Given the description of an element on the screen output the (x, y) to click on. 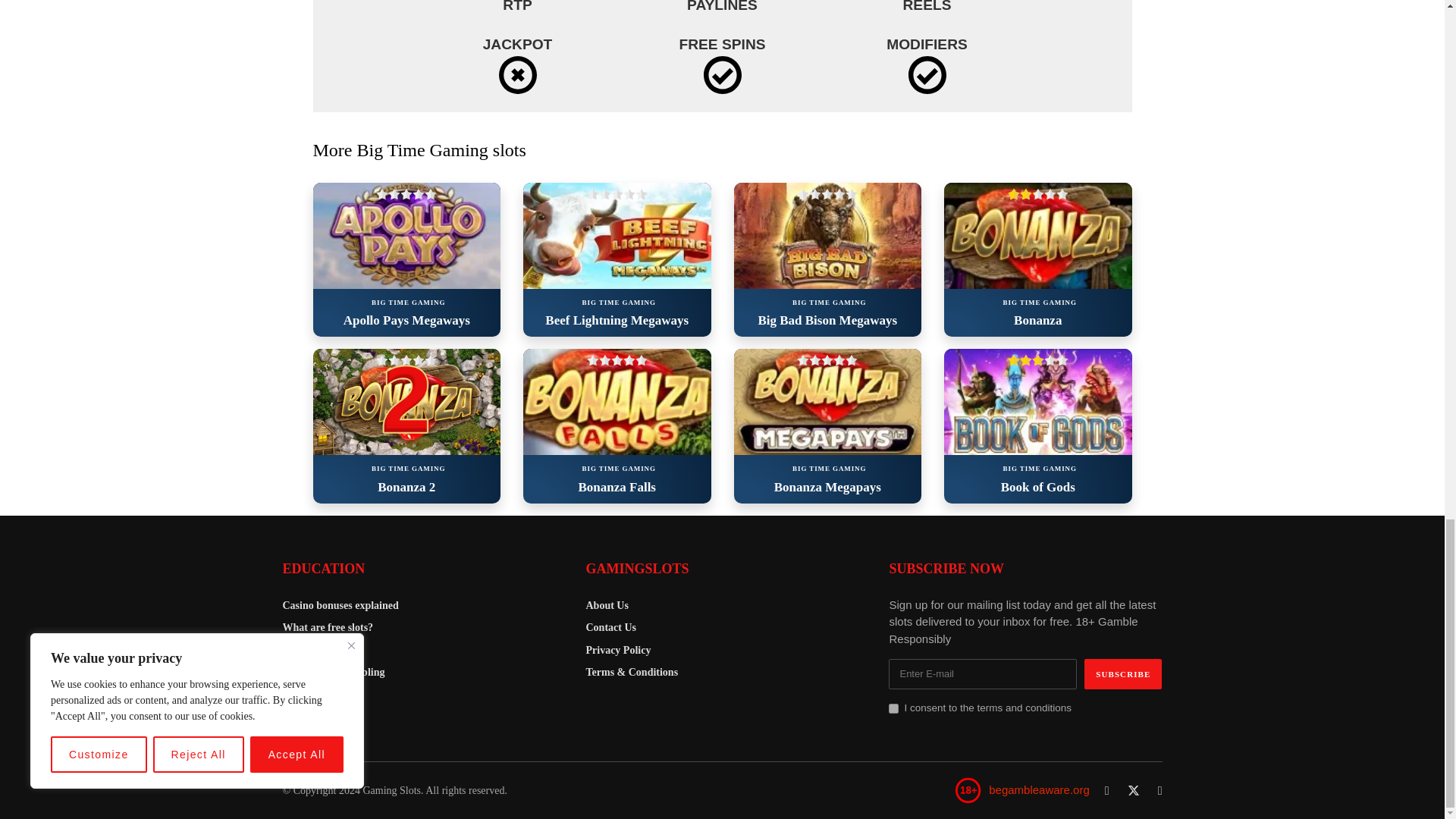
Reels (927, 8)
Beef Lightning Megaways slot (616, 235)
Apollo Pays Megaways slot (406, 235)
Subscribe (1122, 674)
Bonanza slot (1037, 235)
Paylines (722, 8)
Big Bad Bison Megaways slot (827, 235)
Return to player (517, 8)
1 (893, 708)
